Given the description of an element on the screen output the (x, y) to click on. 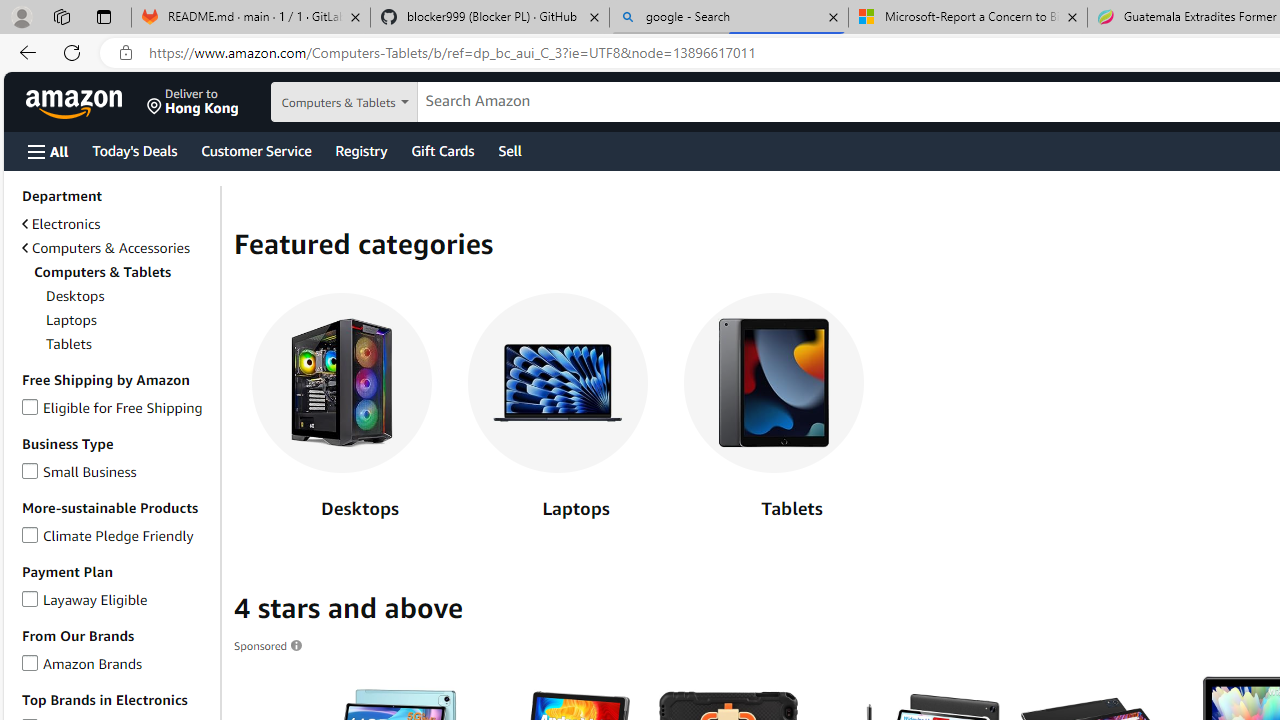
Small Business Small Business (78, 470)
Tablets (773, 383)
Tablets (773, 411)
Amazon Brands Amazon Brands (82, 662)
Skip to main content (86, 100)
Eligible for Free ShippingEligible for Free Shipping (117, 408)
Leave feedback on Sponsored ad (269, 645)
Climate Pledge Friendly (29, 532)
Small Business (29, 467)
Laptops (557, 411)
Sell (509, 150)
Eligible for Free Shipping Eligible for Free Shipping (112, 407)
